Given the description of an element on the screen output the (x, y) to click on. 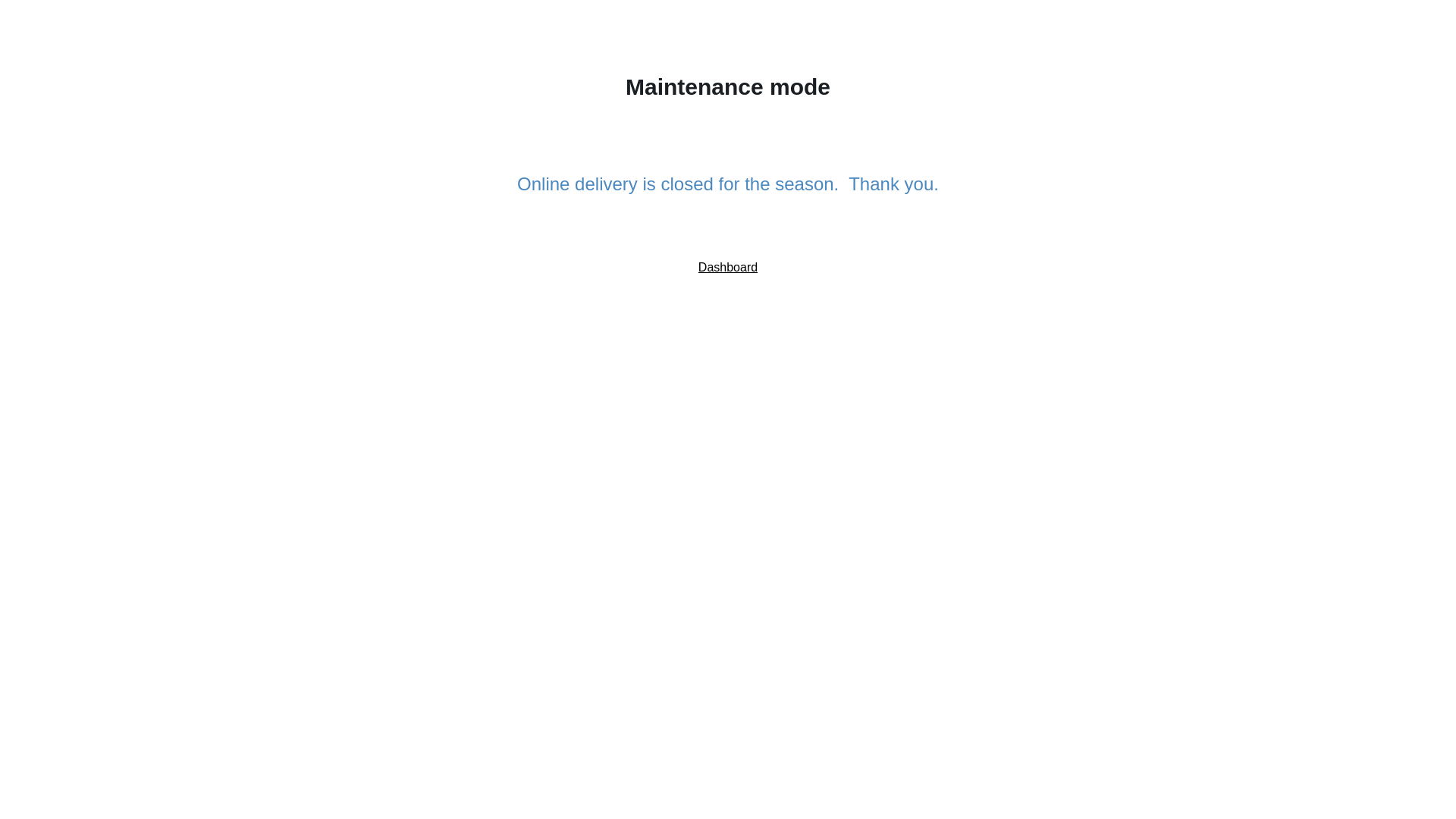
Dashboard Element type: text (727, 266)
